Given the description of an element on the screen output the (x, y) to click on. 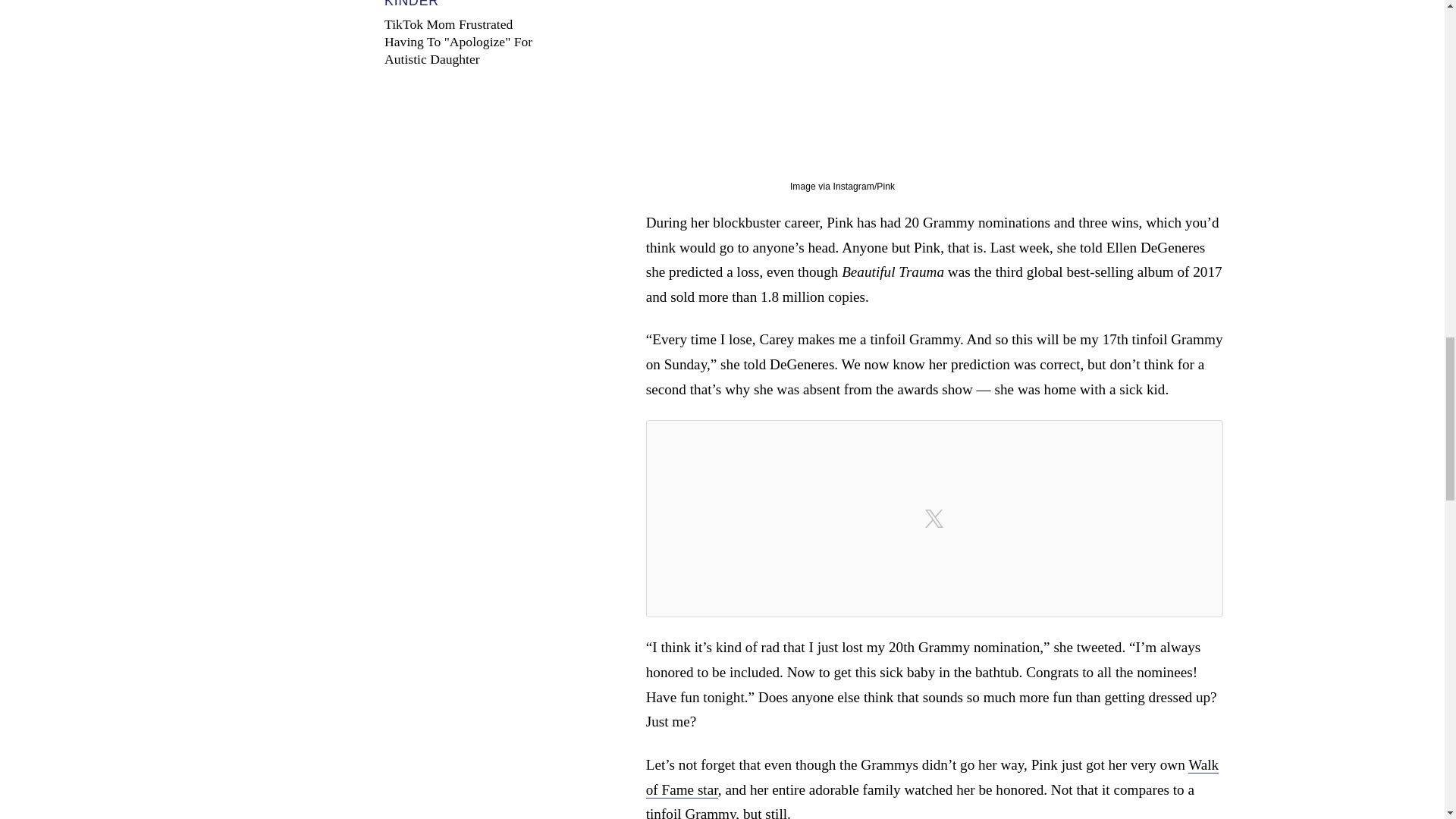
Walk of Fame star (933, 777)
